Given the description of an element on the screen output the (x, y) to click on. 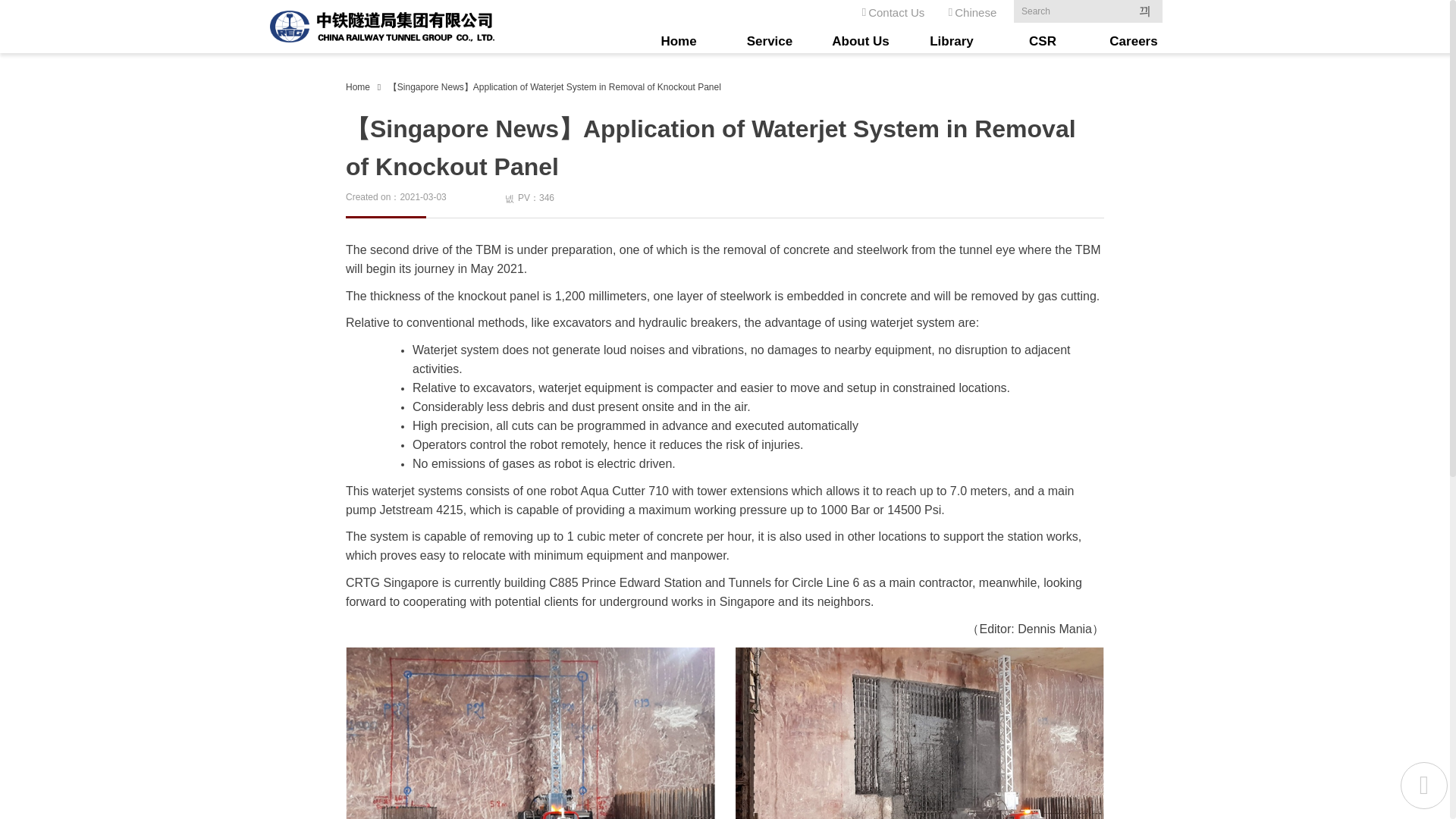
Service (769, 40)
Home (678, 40)
CSR (1042, 40)
Library (951, 40)
Careers (1133, 40)
About Us (860, 40)
